Given the description of an element on the screen output the (x, y) to click on. 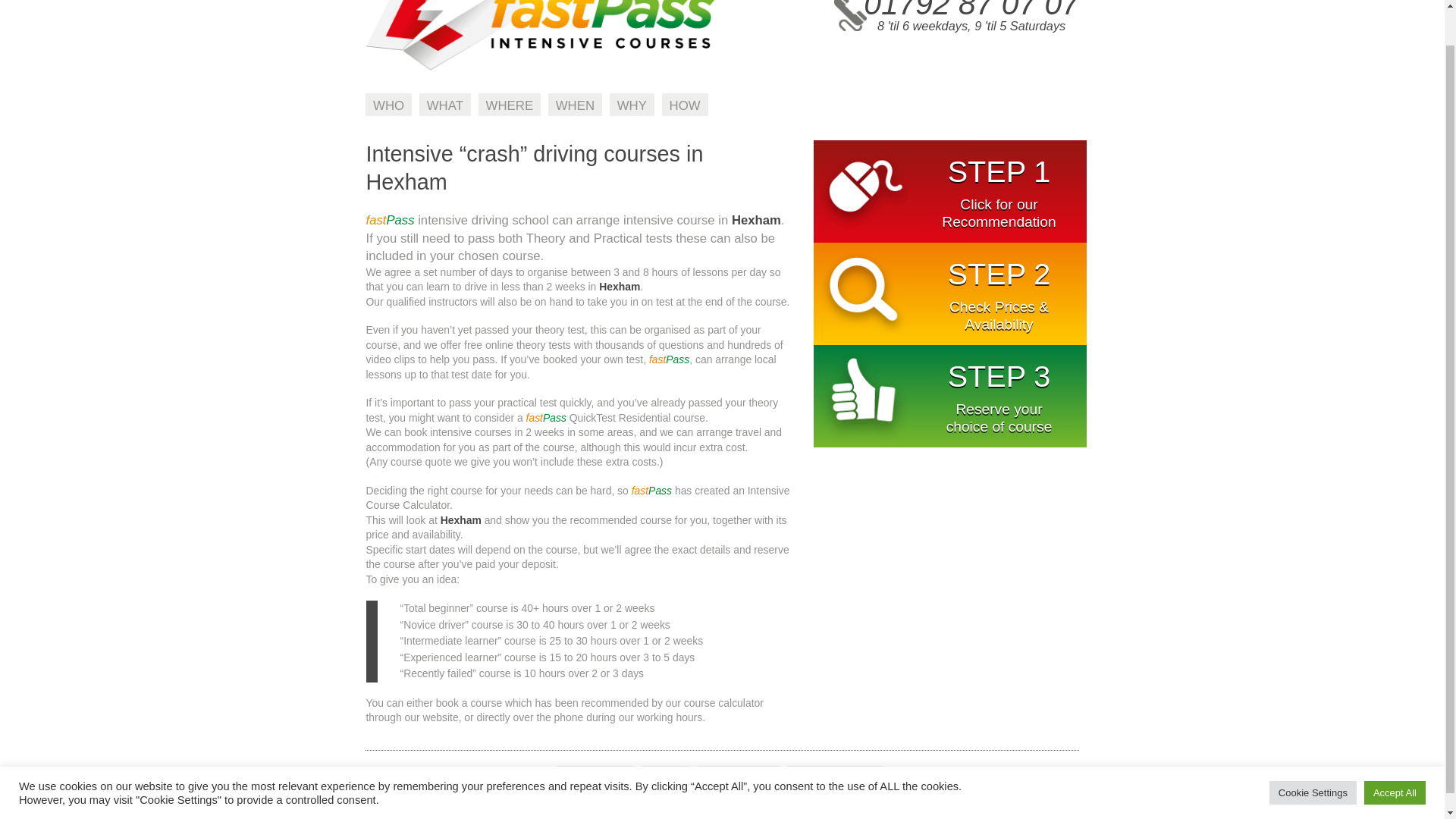
Accept All (1394, 754)
TS AND CS (738, 776)
fastPass (539, 67)
WHEN (575, 104)
HOW (684, 104)
WHO (388, 104)
CONTACT US (835, 776)
BENEFITS (594, 776)
01792 87 07 07 (970, 10)
WHAT (444, 104)
